Given the description of an element on the screen output the (x, y) to click on. 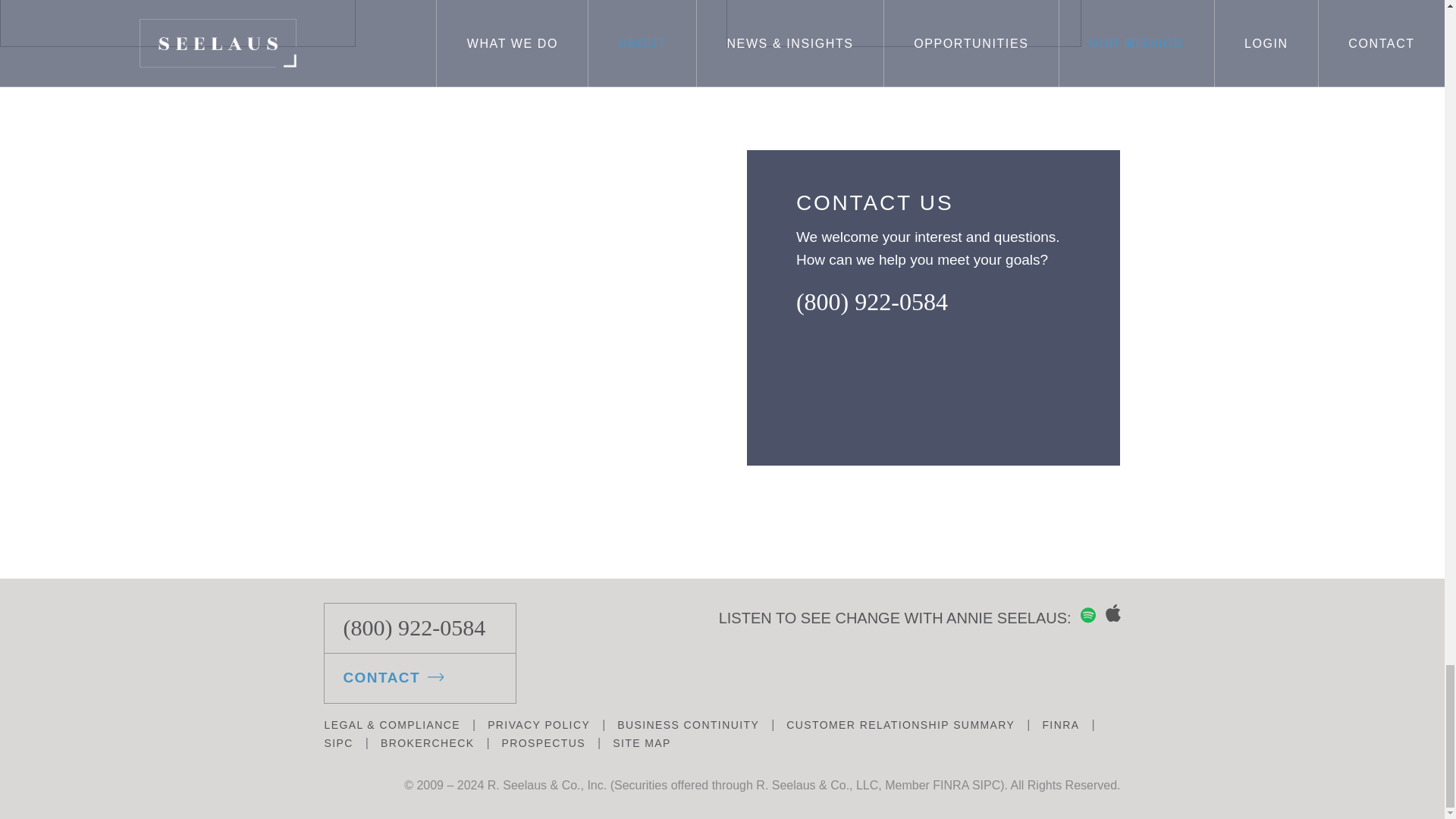
CONTACT (419, 678)
